Given the description of an element on the screen output the (x, y) to click on. 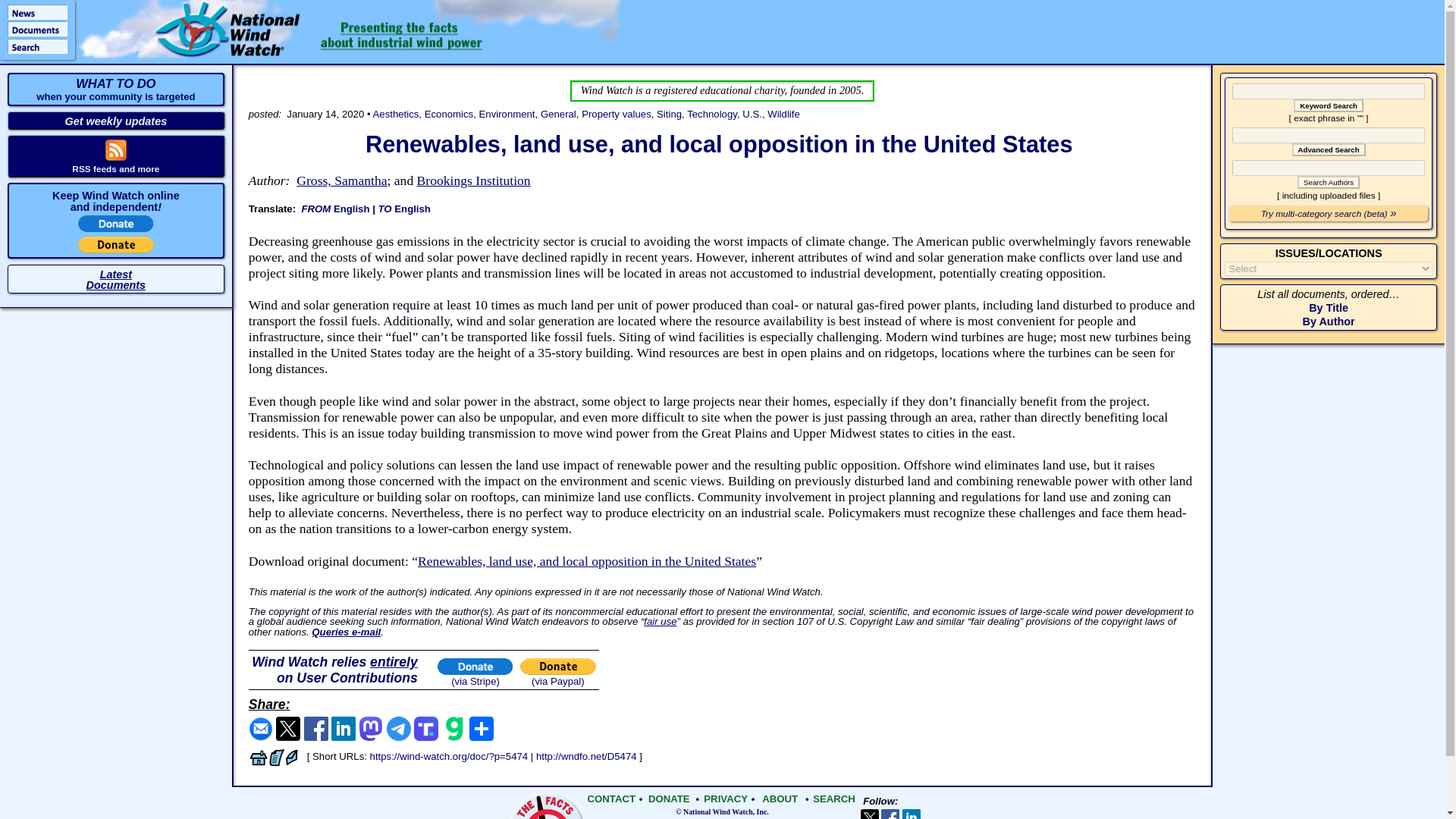
Advanced Search (1328, 149)
Property values (615, 113)
Technology (711, 113)
By Author (1329, 321)
Environment (507, 113)
Wind Watch RSS Feeds (115, 156)
Donate via Stripe (115, 89)
RSS feeds and more (116, 227)
Get weekly updates (114, 168)
Advanced Search (116, 121)
Wind Watch RSS Feeds (1328, 149)
Siting (114, 168)
Advanced Search (668, 113)
